Given the description of an element on the screen output the (x, y) to click on. 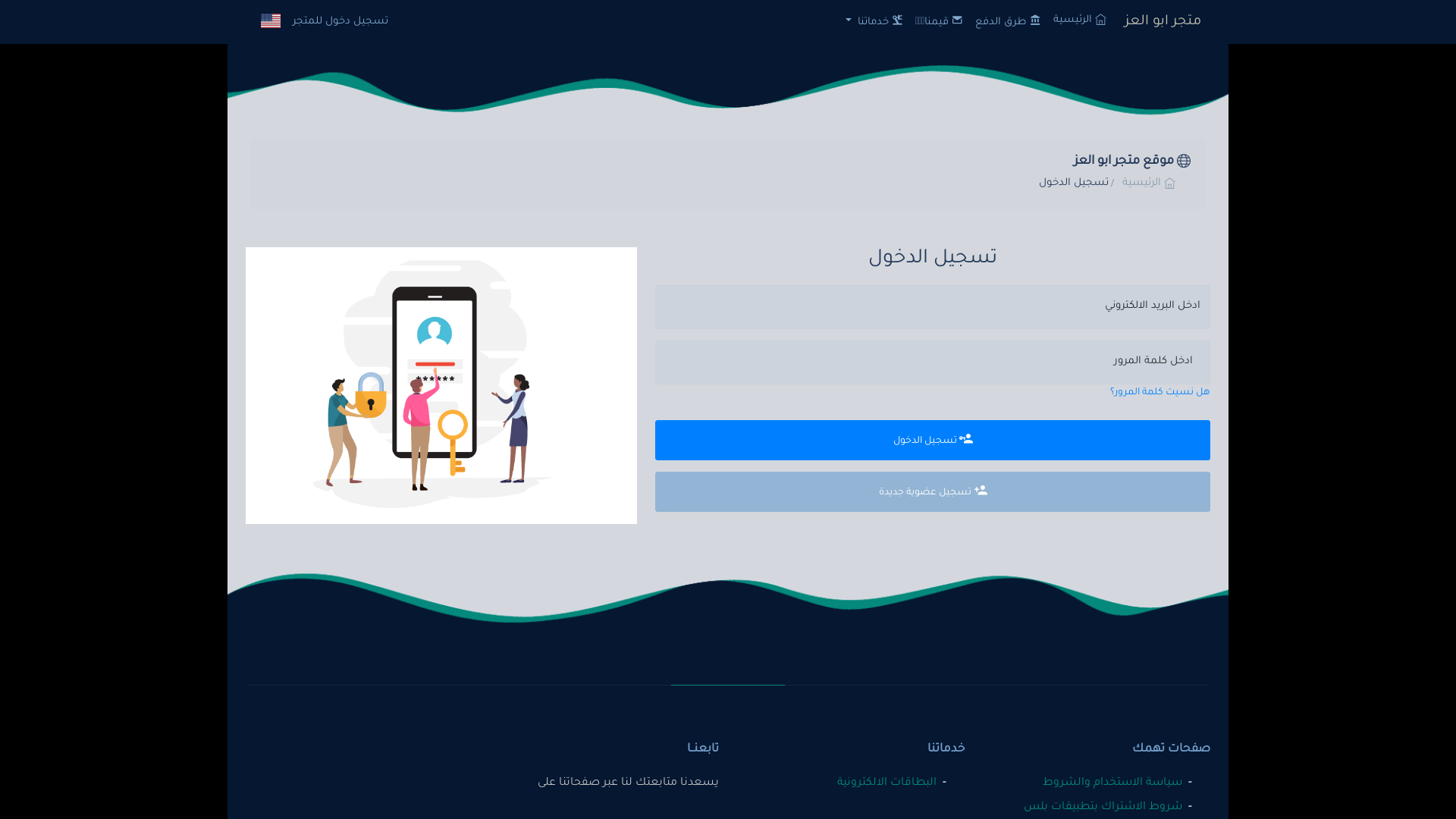
English Language Element type: hover (270, 20)
